Given the description of an element on the screen output the (x, y) to click on. 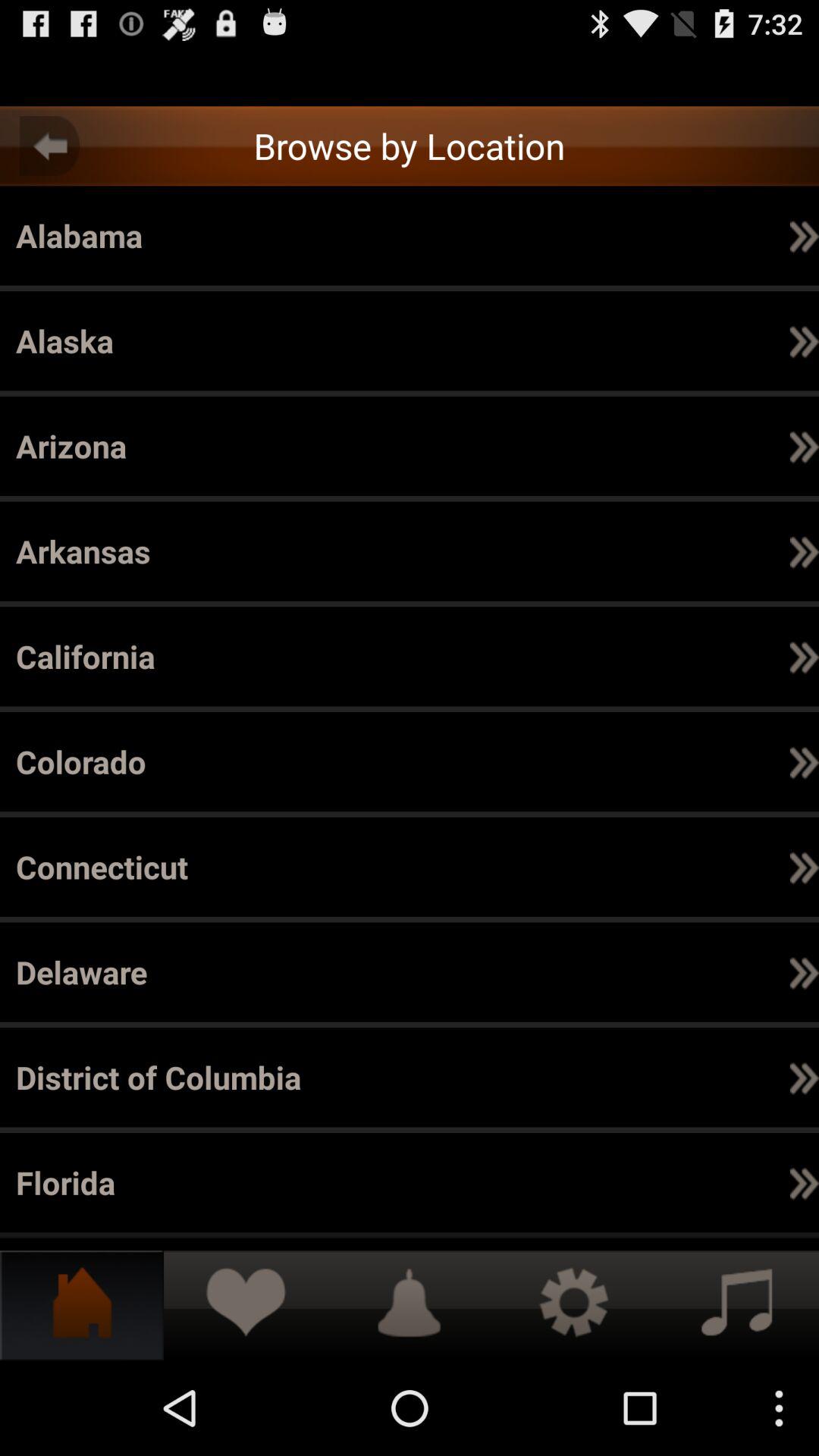
flip until the   del norte (248, 972)
